Given the description of an element on the screen output the (x, y) to click on. 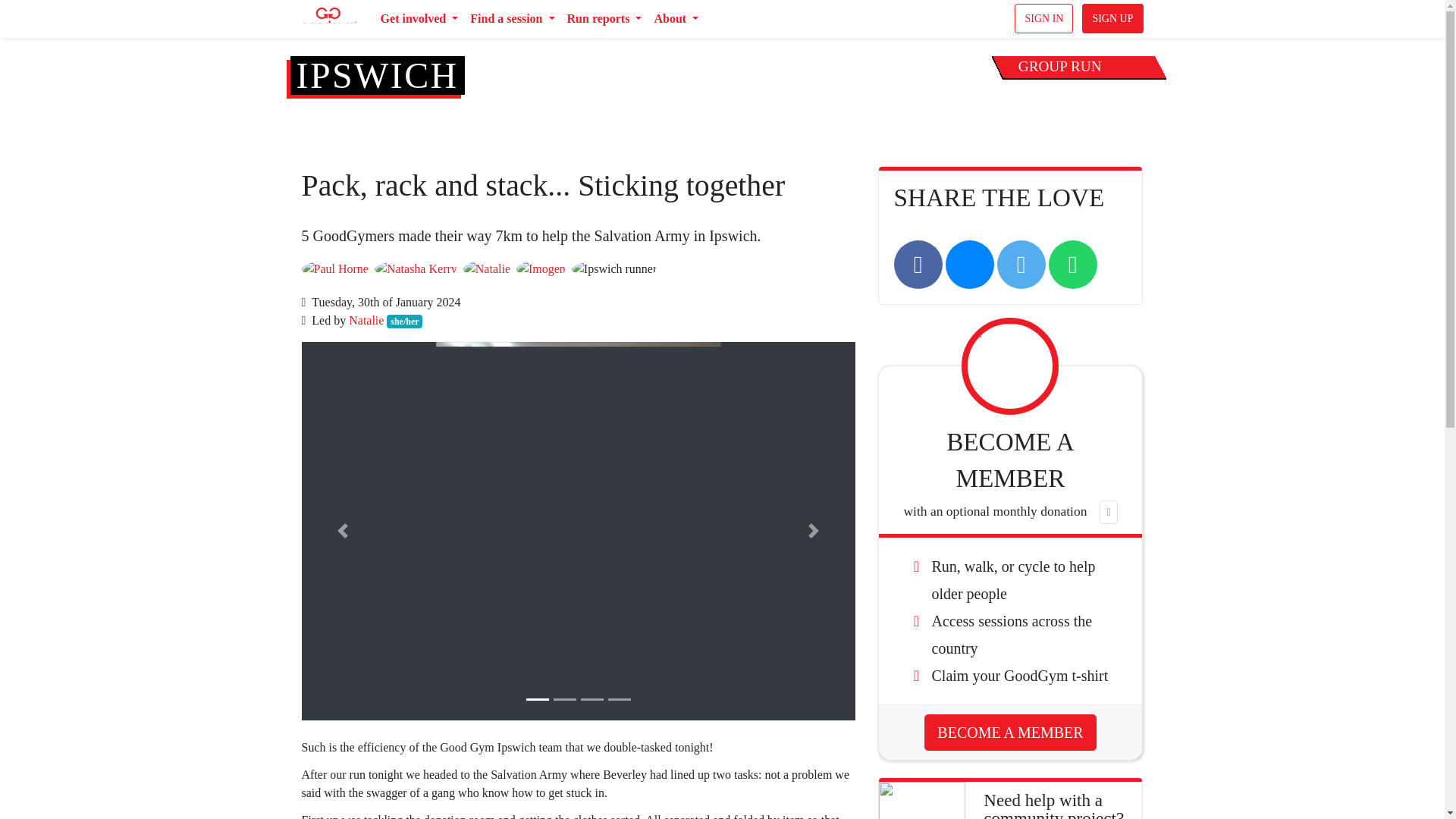
Run reports (603, 19)
SIGN IN (1043, 18)
About (675, 19)
Get involved (419, 19)
IPSWICH (376, 75)
SIGN UP (1111, 18)
Find a session (512, 19)
Messenger (968, 264)
